Given the description of an element on the screen output the (x, y) to click on. 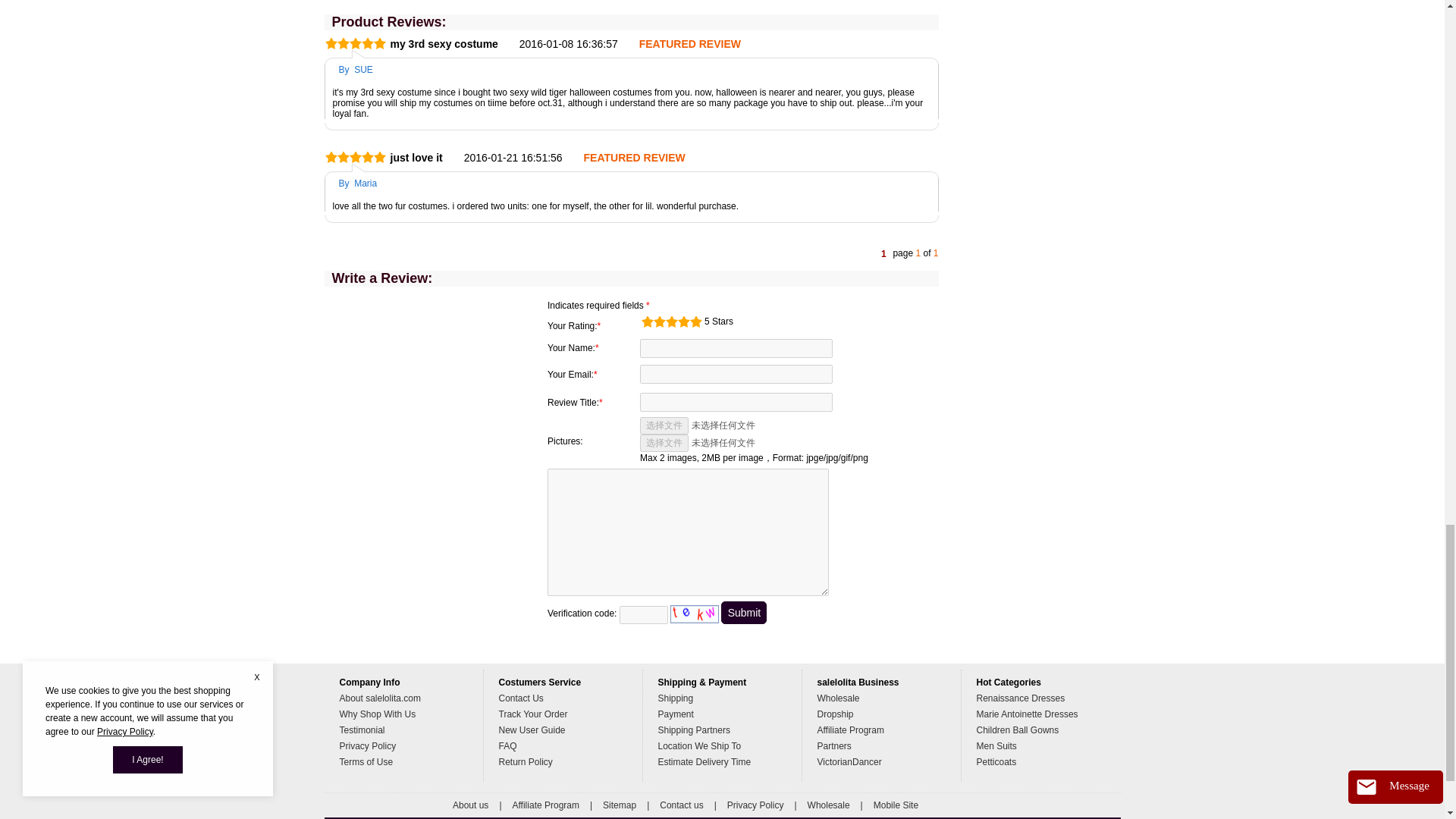
Submit (743, 612)
